Given the description of an element on the screen output the (x, y) to click on. 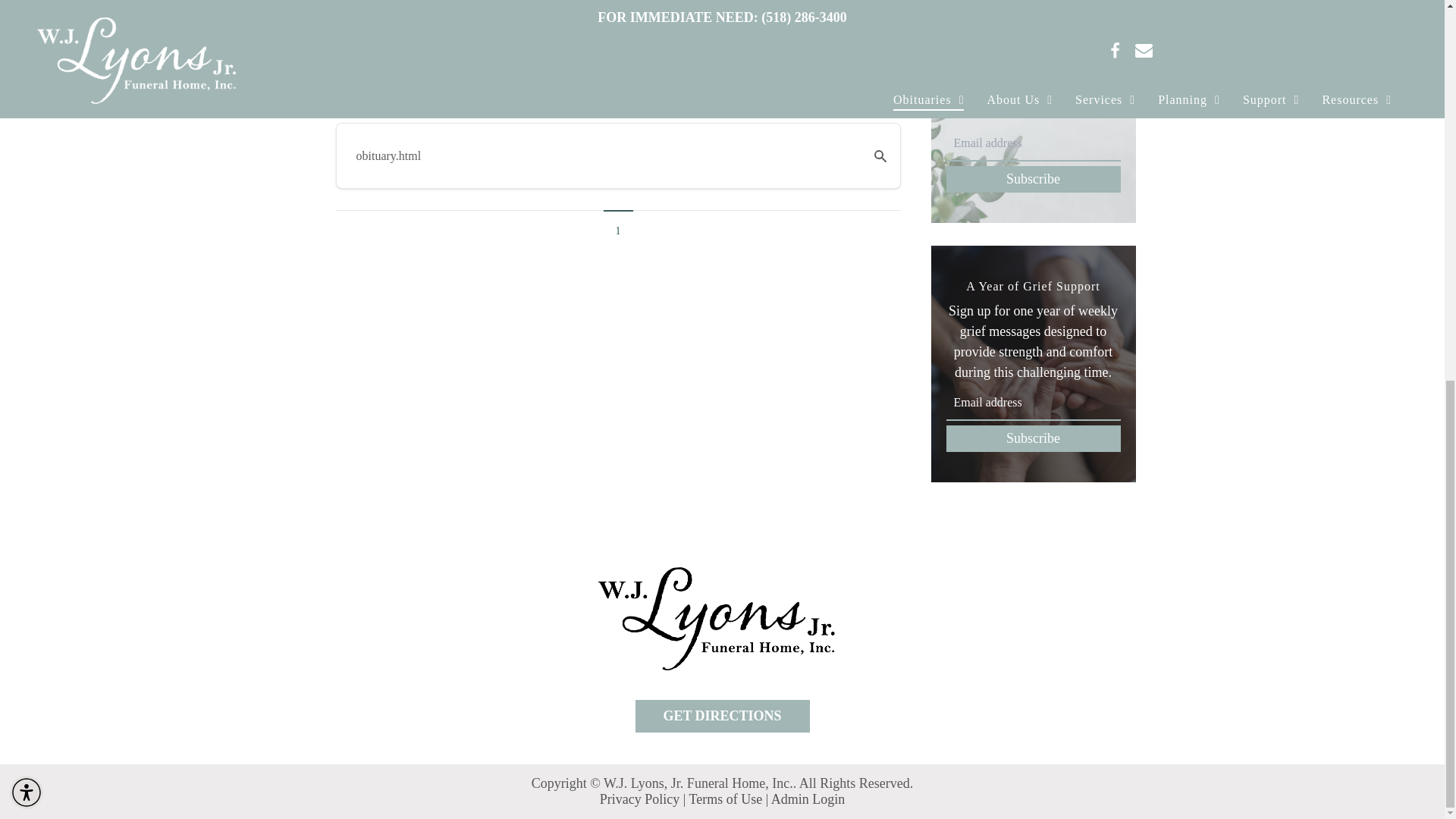
Accessibility Menu (26, 82)
obituary.html (601, 155)
